Given the description of an element on the screen output the (x, y) to click on. 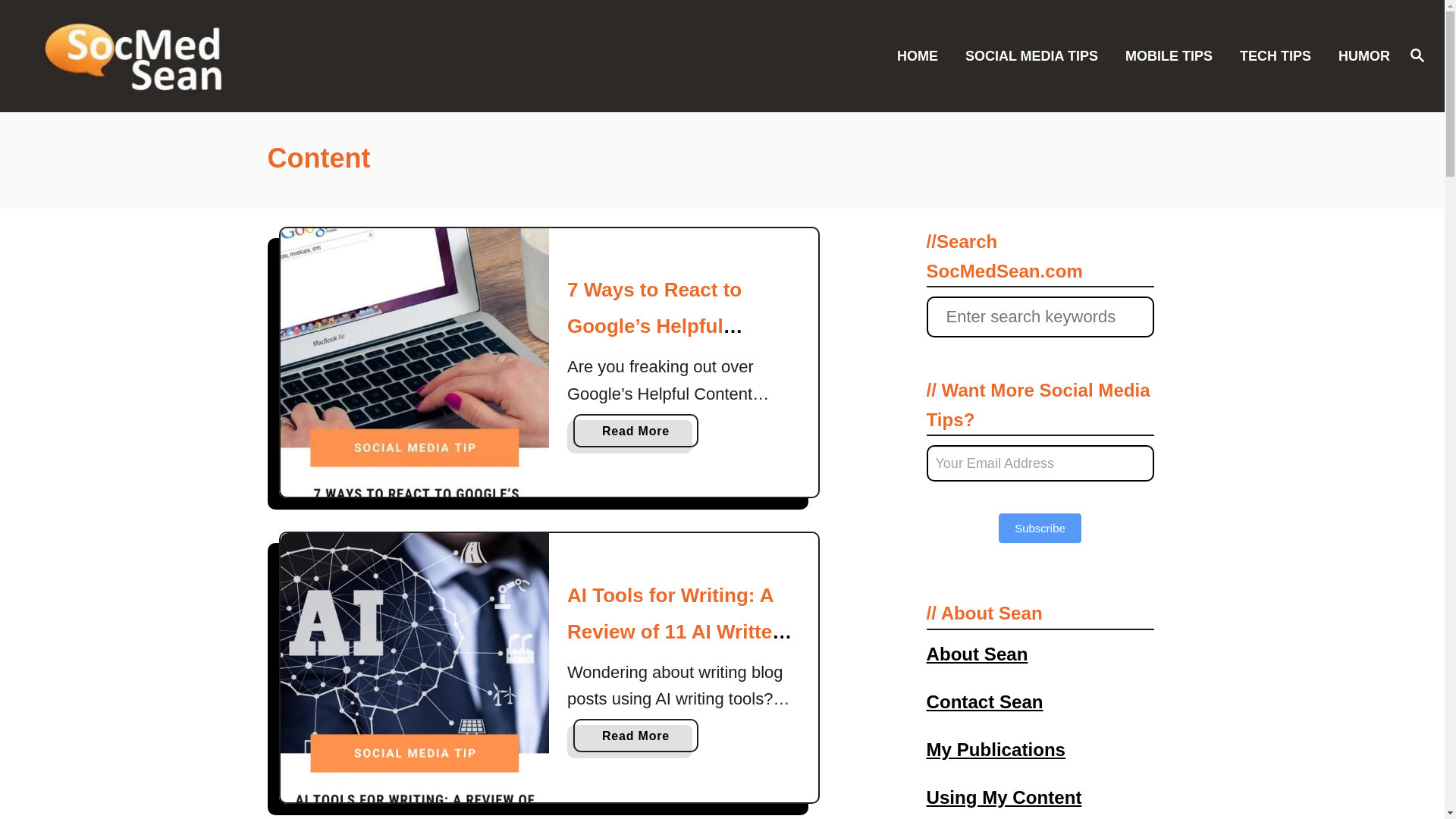
Search for: (1040, 316)
AI Tools for Writing: A Review of 11 AI Written Articles (415, 667)
MOBILE TIPS (1173, 55)
SocMedSean - Social Media Sean (204, 56)
Magnifying Glass (1416, 54)
HOME (922, 55)
AI Tools for Writing: A Review of 11 AI Written Articles (679, 631)
HUMOR (1359, 55)
TECH TIPS (1279, 55)
